Given the description of an element on the screen output the (x, y) to click on. 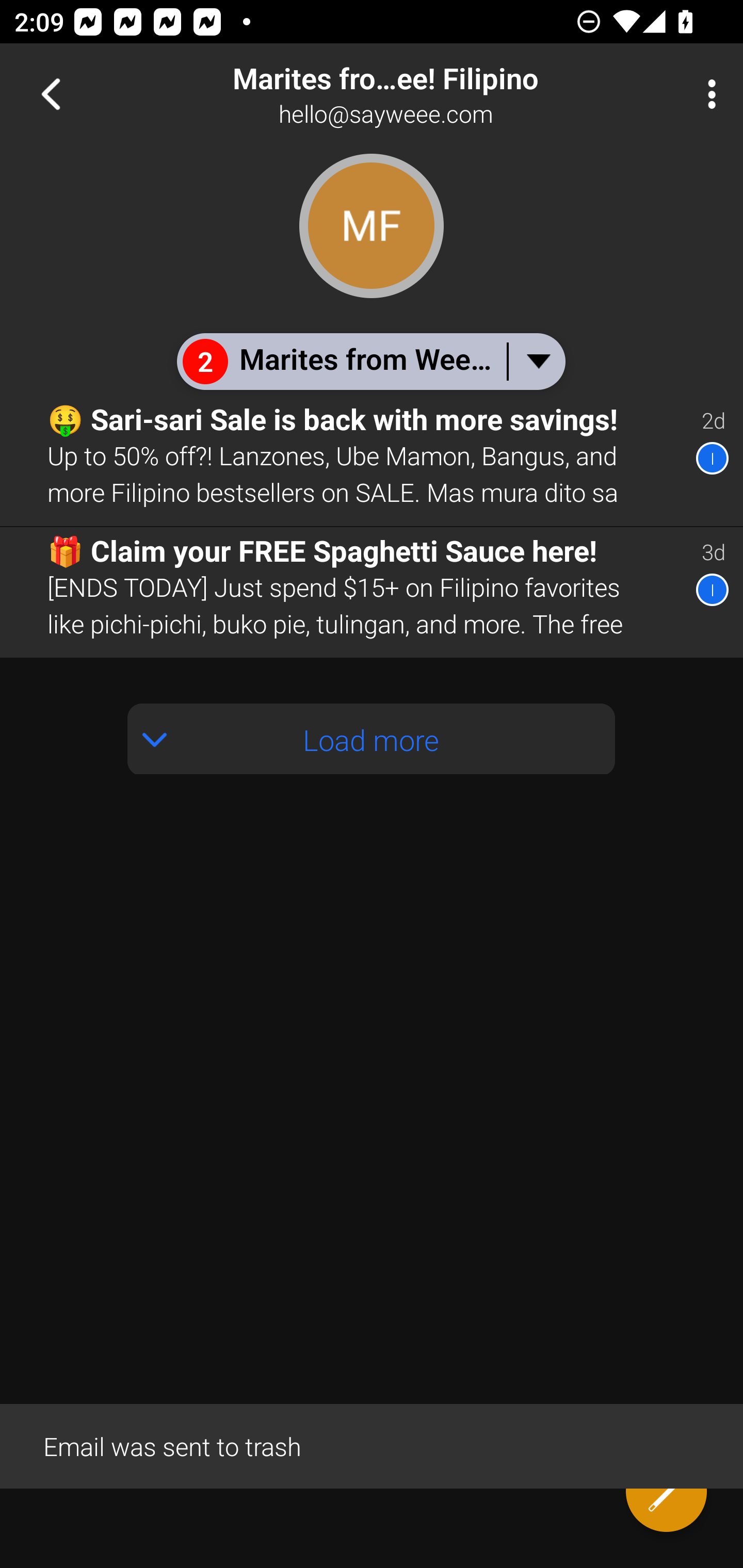
Navigate up (50, 93)
Marites from Weee! Filipino hello@sayweee.com (436, 93)
More Options (706, 93)
2 Marites from Weee! Filipino & You (370, 361)
Load more (371, 739)
Email was sent to trash (371, 1445)
